Given the description of an element on the screen output the (x, y) to click on. 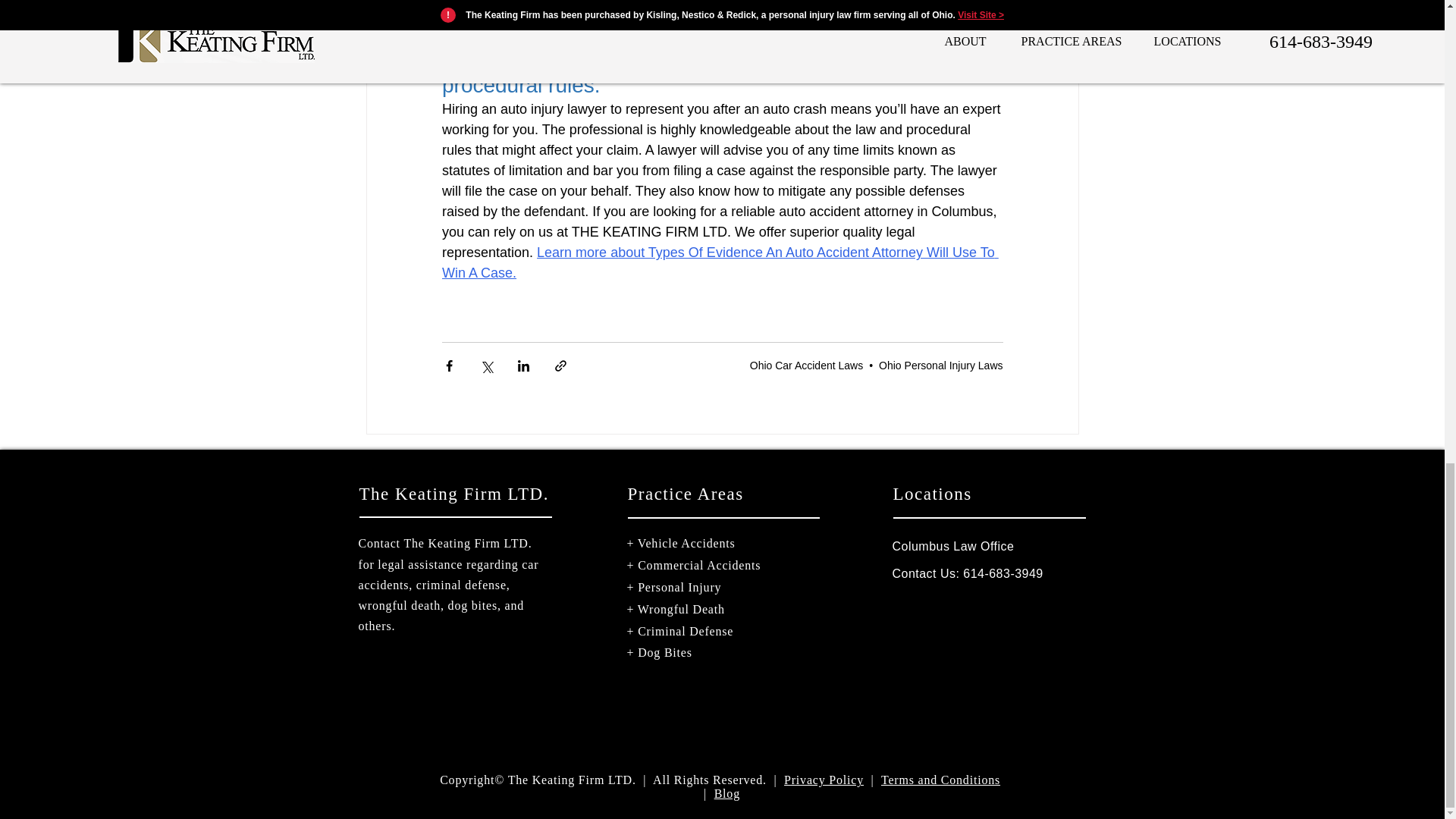
Vehicle Accidents (686, 543)
Commercial Accidents (698, 564)
Personal Injury (678, 586)
Ohio Car Accident Laws (806, 365)
Ohio Personal Injury Laws (941, 365)
